Given the description of an element on the screen output the (x, y) to click on. 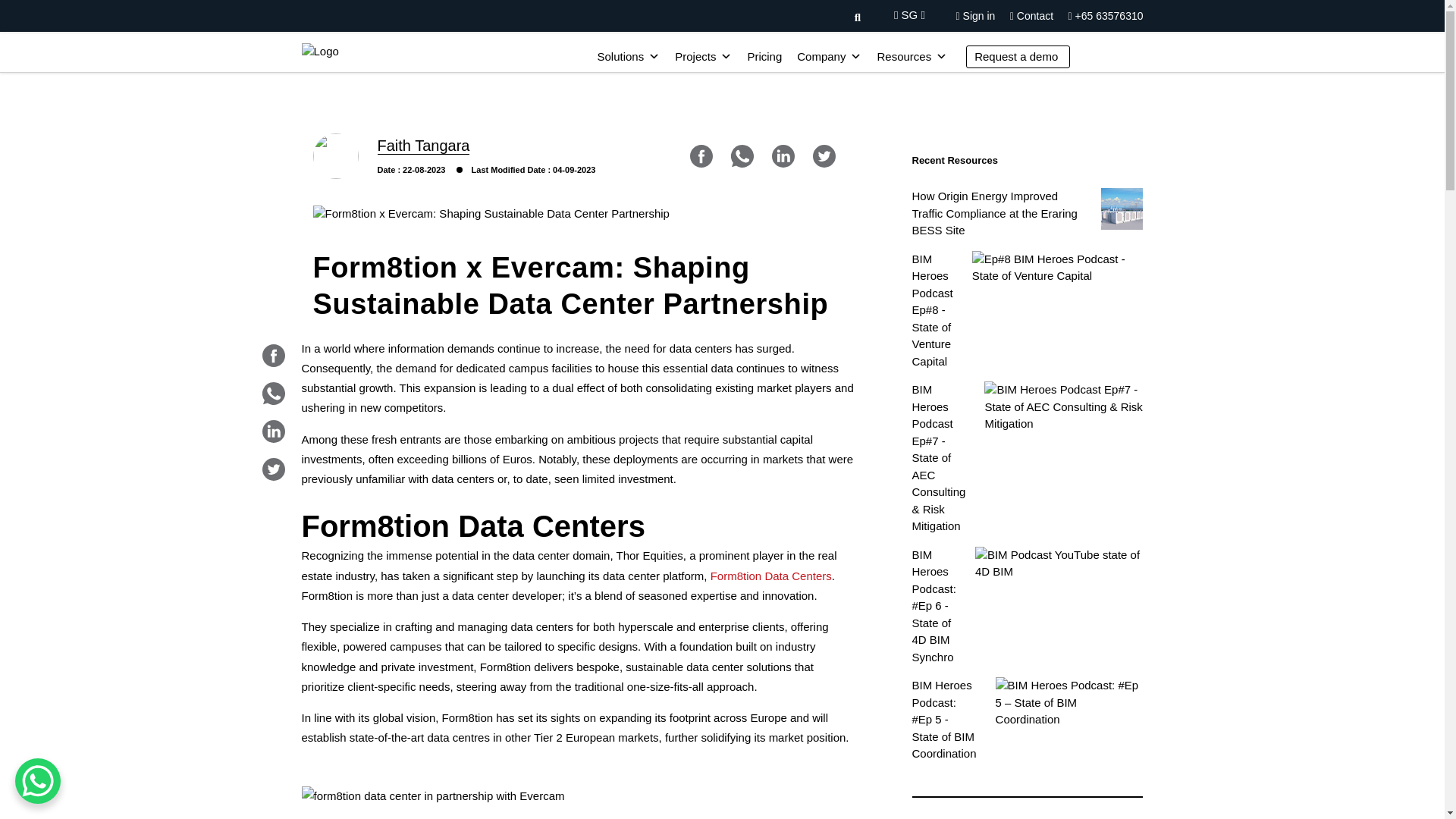
Solutions (627, 56)
linkedin (782, 155)
linkedin (273, 431)
Share this on facebook (701, 155)
Share this on facebook (273, 354)
Share this on Twitter (273, 468)
Share this on Twitter (823, 155)
Projects (702, 56)
SG (908, 14)
Share this on whatsapp (742, 155)
